Given the description of an element on the screen output the (x, y) to click on. 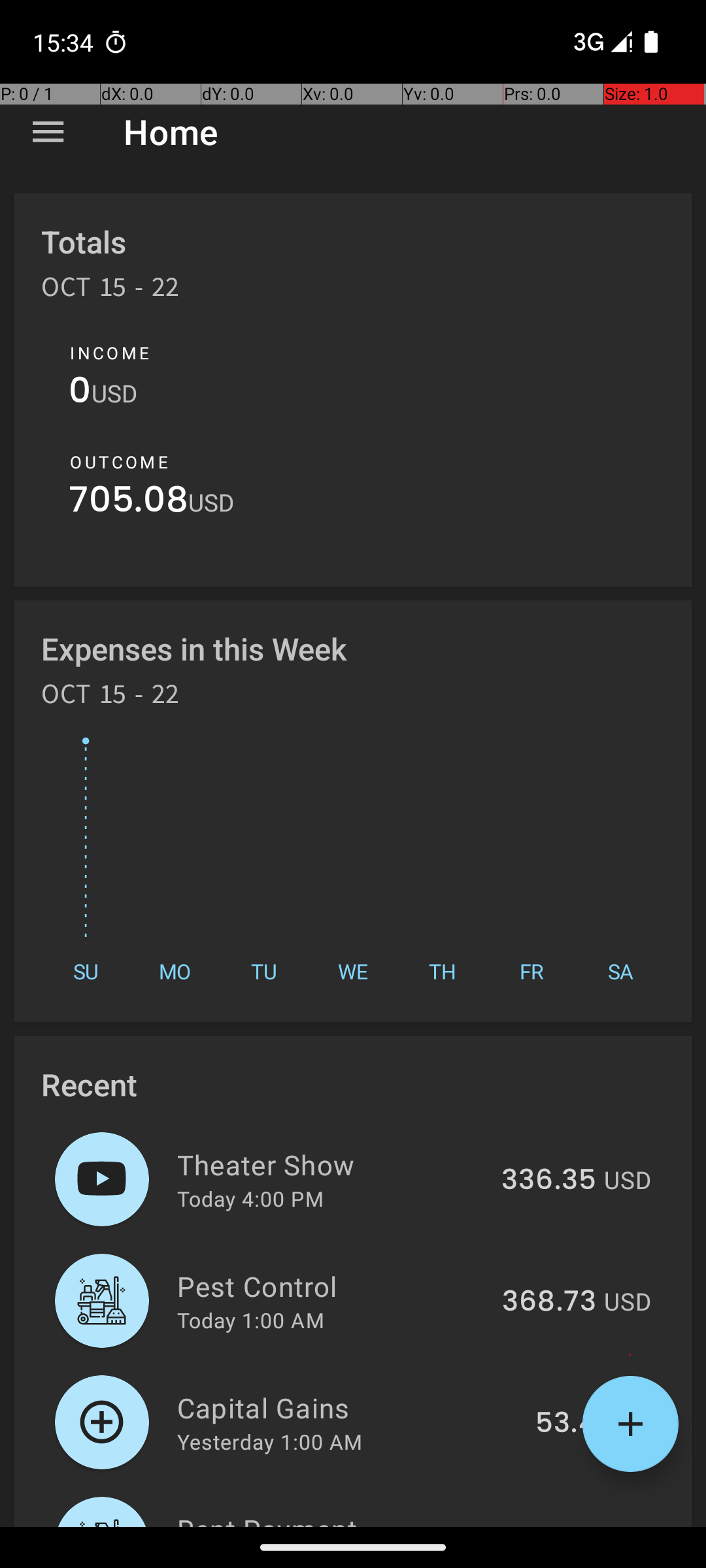
705.08 Element type: android.widget.TextView (128, 502)
Theater Show Element type: android.widget.TextView (331, 1164)
336.35 Element type: android.widget.TextView (548, 1180)
Today 1:00 AM Element type: android.widget.TextView (250, 1320)
368.73 Element type: android.widget.TextView (548, 1301)
Yesterday 1:00 AM Element type: android.widget.TextView (269, 1441)
53.4 Element type: android.widget.TextView (565, 1423)
Rent Payment Element type: android.widget.TextView (339, 1518)
117.63 Element type: android.widget.TextView (555, 1524)
